Given the description of an element on the screen output the (x, y) to click on. 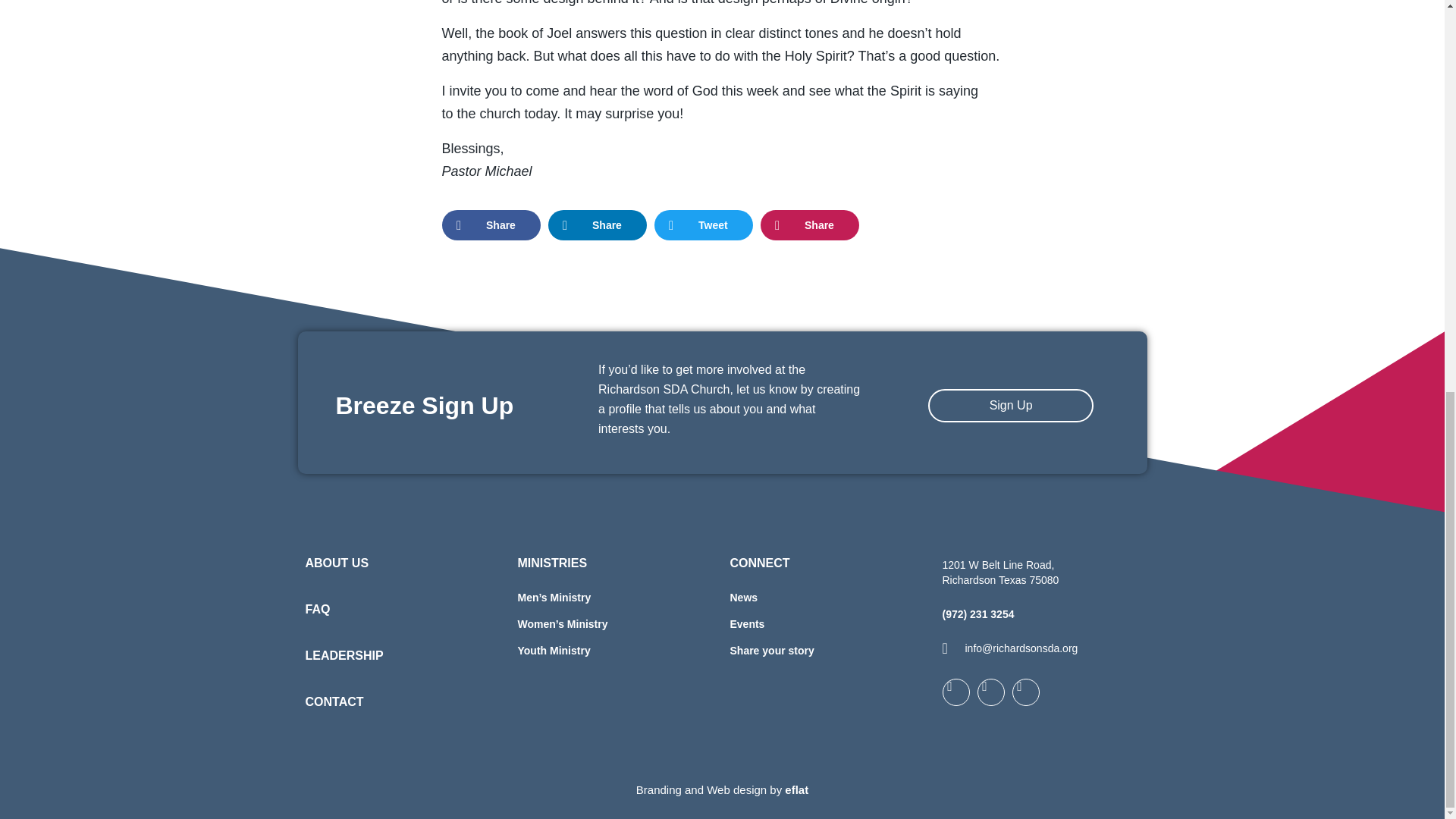
ABOUT US (336, 562)
Sign Up (1011, 405)
MINISTRIES (551, 562)
LEADERSHIP (343, 655)
FAQ (317, 608)
Youth Ministry (615, 651)
CONTACT (333, 701)
